Given the description of an element on the screen output the (x, y) to click on. 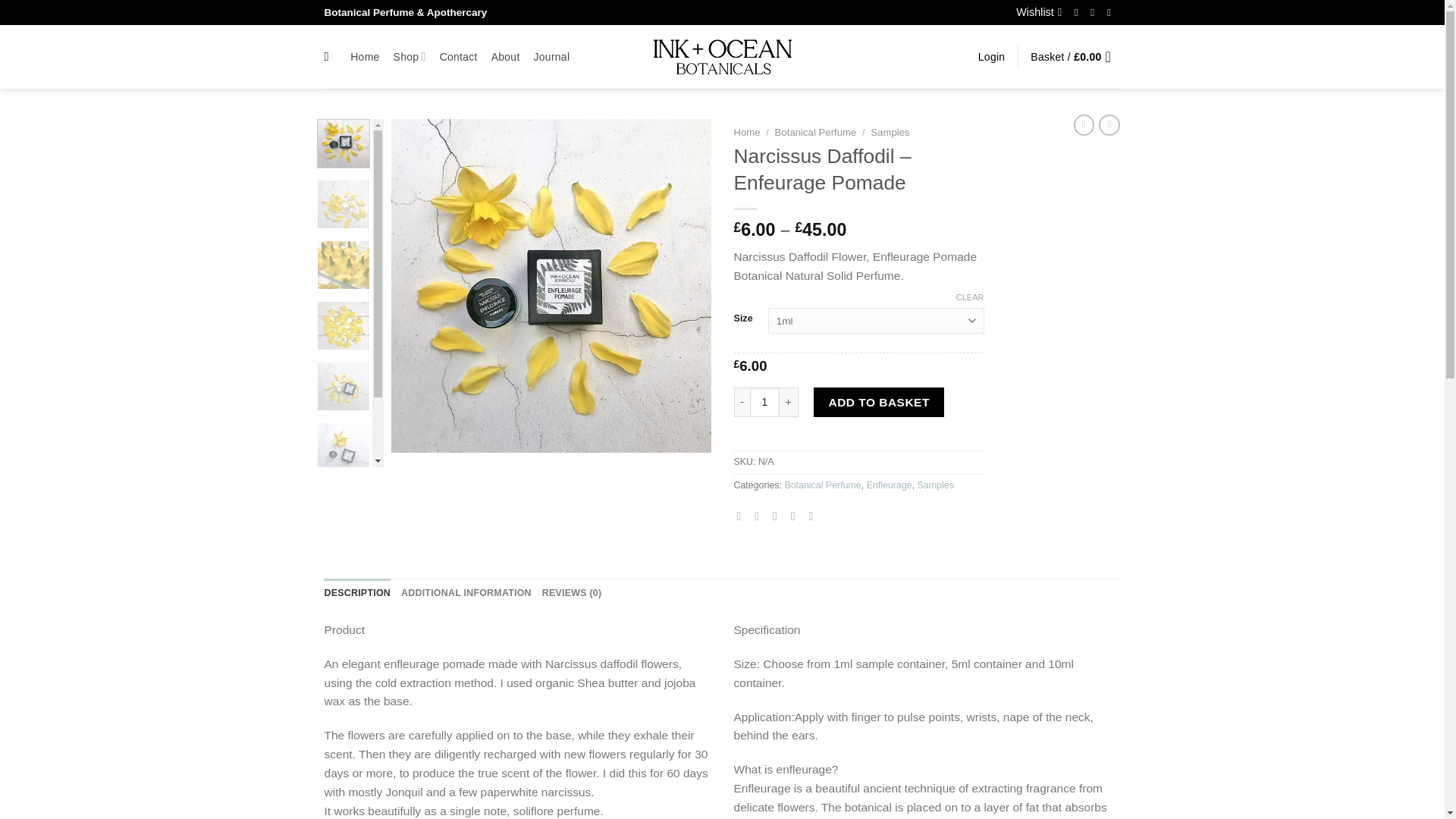
Share on Twitter (760, 515)
Shop (409, 56)
narcissus enfleurage (551, 285)
Follow on Twitter (1095, 12)
Pin on Pinterest (796, 515)
Follow on Pinterest (1112, 12)
About (505, 56)
Basket (1074, 56)
Login (992, 56)
Contact (458, 56)
